Given the description of an element on the screen output the (x, y) to click on. 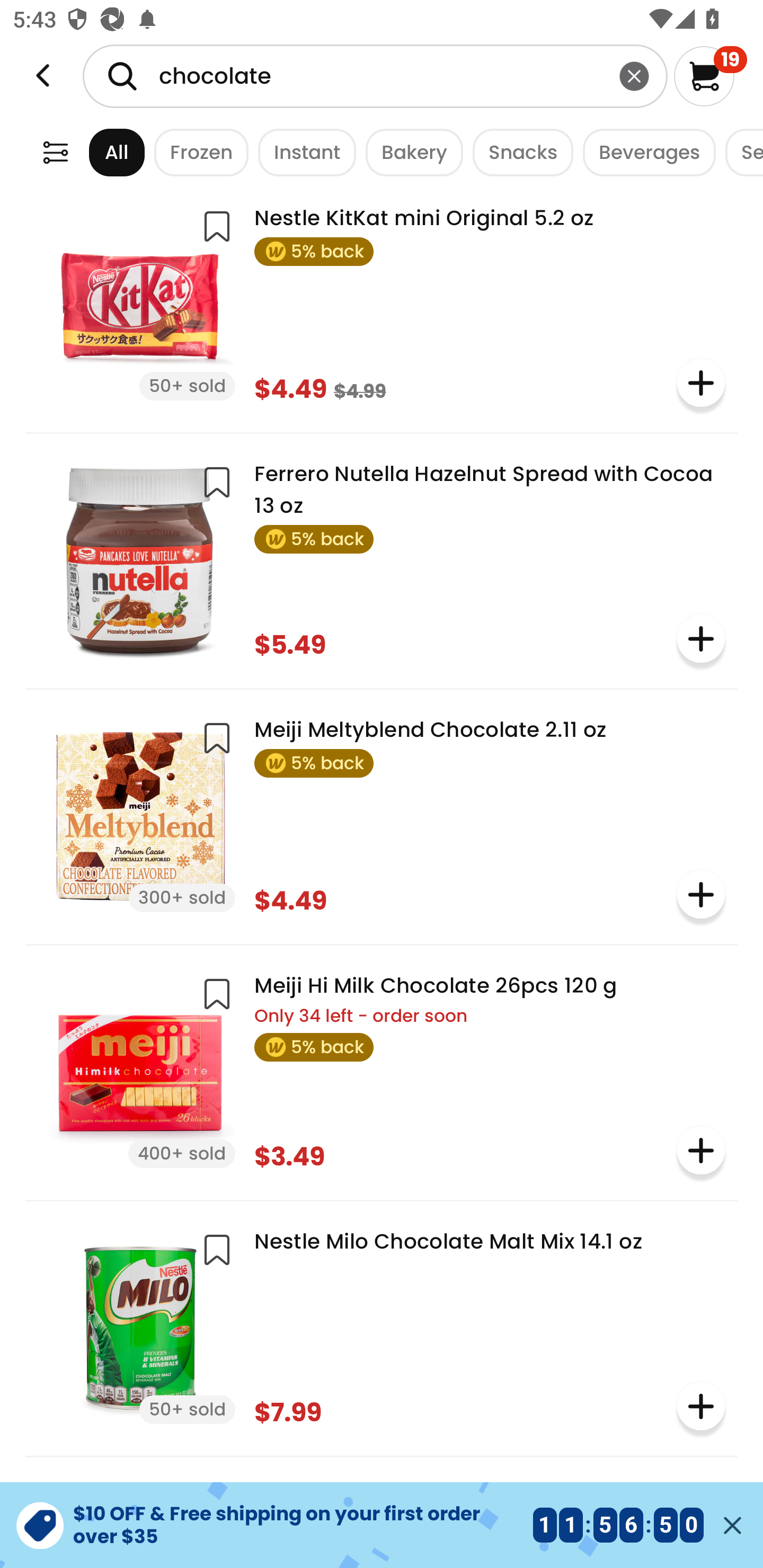
chocolate (374, 75)
19 (709, 75)
Weee! (42, 76)
Weee! (55, 151)
All (99, 151)
Frozen (196, 151)
Instant (302, 151)
Bakery (409, 151)
Snacks (518, 151)
Beverages (644, 151)
